Given the description of an element on the screen output the (x, y) to click on. 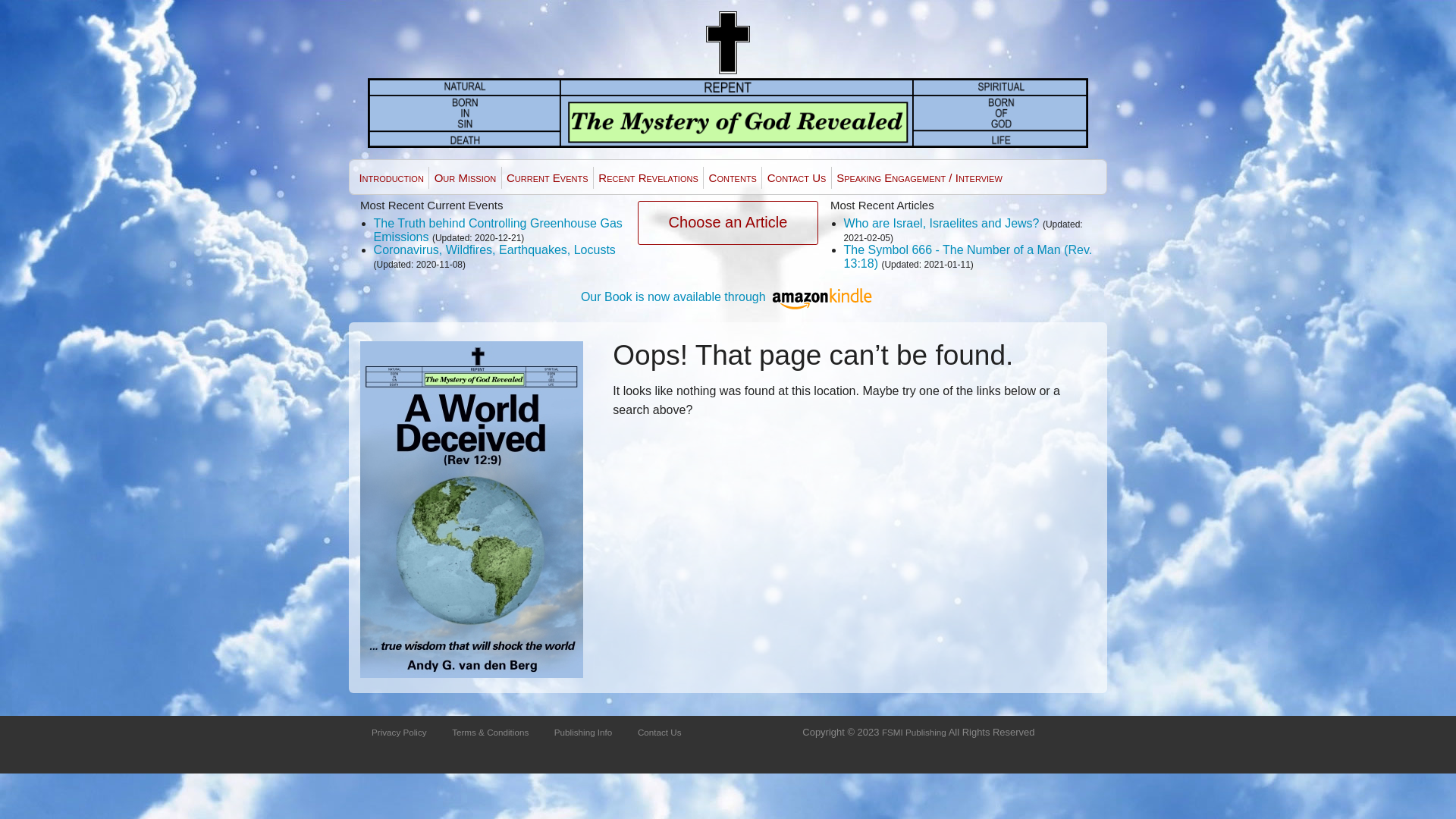
Contact Us Element type: text (796, 177)
Choose an Article Element type: text (728, 222)
Current Events Element type: text (547, 177)
Contact Us Element type: text (659, 732)
Privacy Policy Element type: text (399, 732)
Recent Revelations Element type: text (647, 177)
Publishing Info Element type: text (582, 732)
Coronavirus, Wildfires, Earthquakes, Locusts Element type: text (494, 249)
Terms & Conditions Element type: text (489, 732)
Our Mission Element type: text (464, 177)
FSMI Publishing Element type: text (913, 732)
Speaking Engagement / Interview Element type: text (919, 177)
The Truth behind Controlling Greenhouse Gas Emissions Element type: text (497, 229)
Contents Element type: text (732, 177)
Who are Israel, Israelites and Jews? Element type: text (941, 222)
The Symbol 666 - The Number of a Man (Rev. 13:18) Element type: text (968, 256)
Our Book is now available through Element type: text (727, 296)
Locate your favorite business Element type: hover (727, 78)
Introduction Element type: text (391, 177)
